Given the description of an element on the screen output the (x, y) to click on. 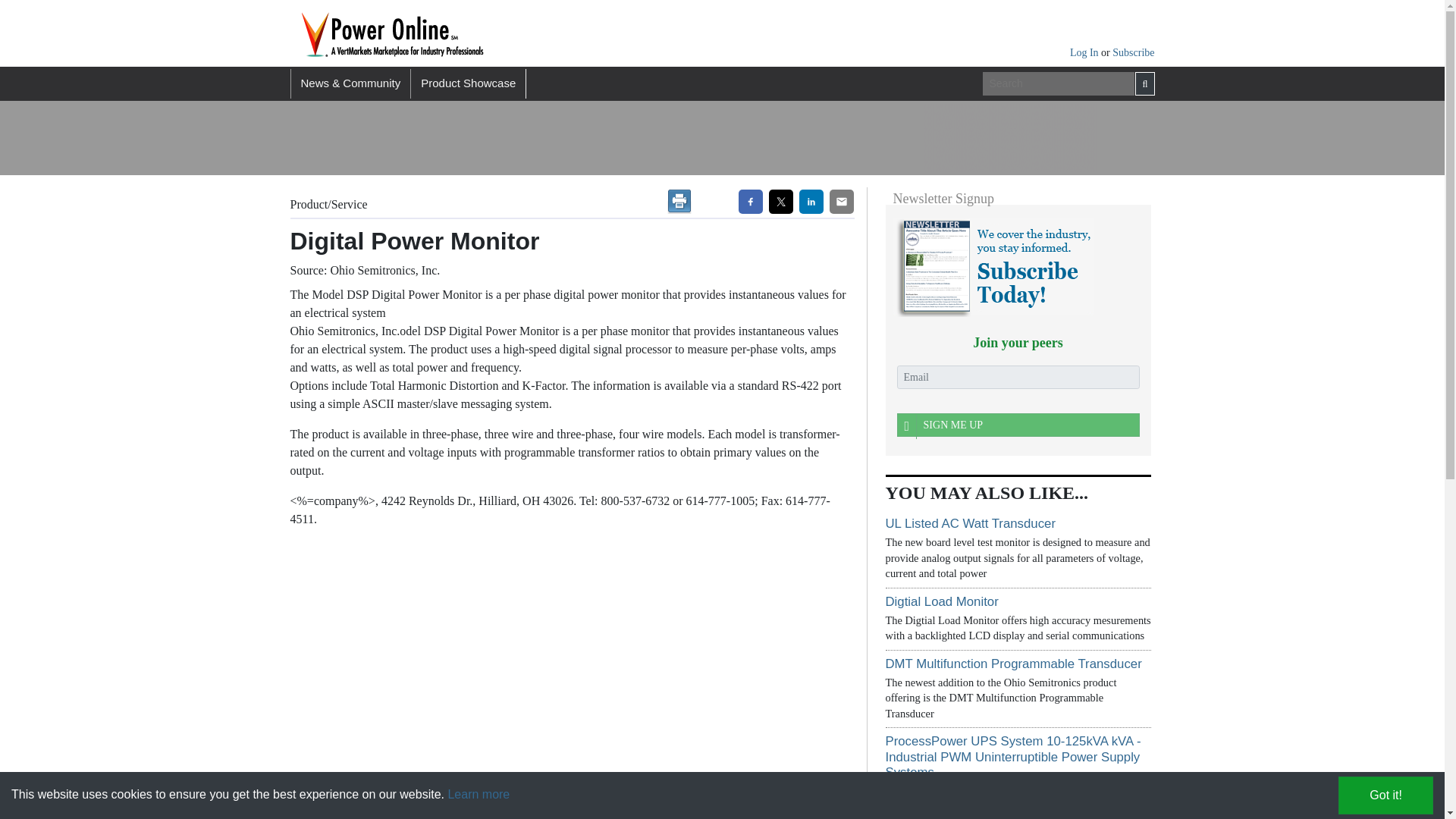
3rd party ad content (1008, 137)
Learn more (477, 793)
Product Showcase (467, 83)
DMT Multifunction Programmable Transducer (1013, 663)
Got it! (1385, 795)
Print (679, 201)
UL Listed AC Watt Transducer (970, 523)
Newsletter Signup (992, 266)
SIGN ME UP (1017, 424)
